Given the description of an element on the screen output the (x, y) to click on. 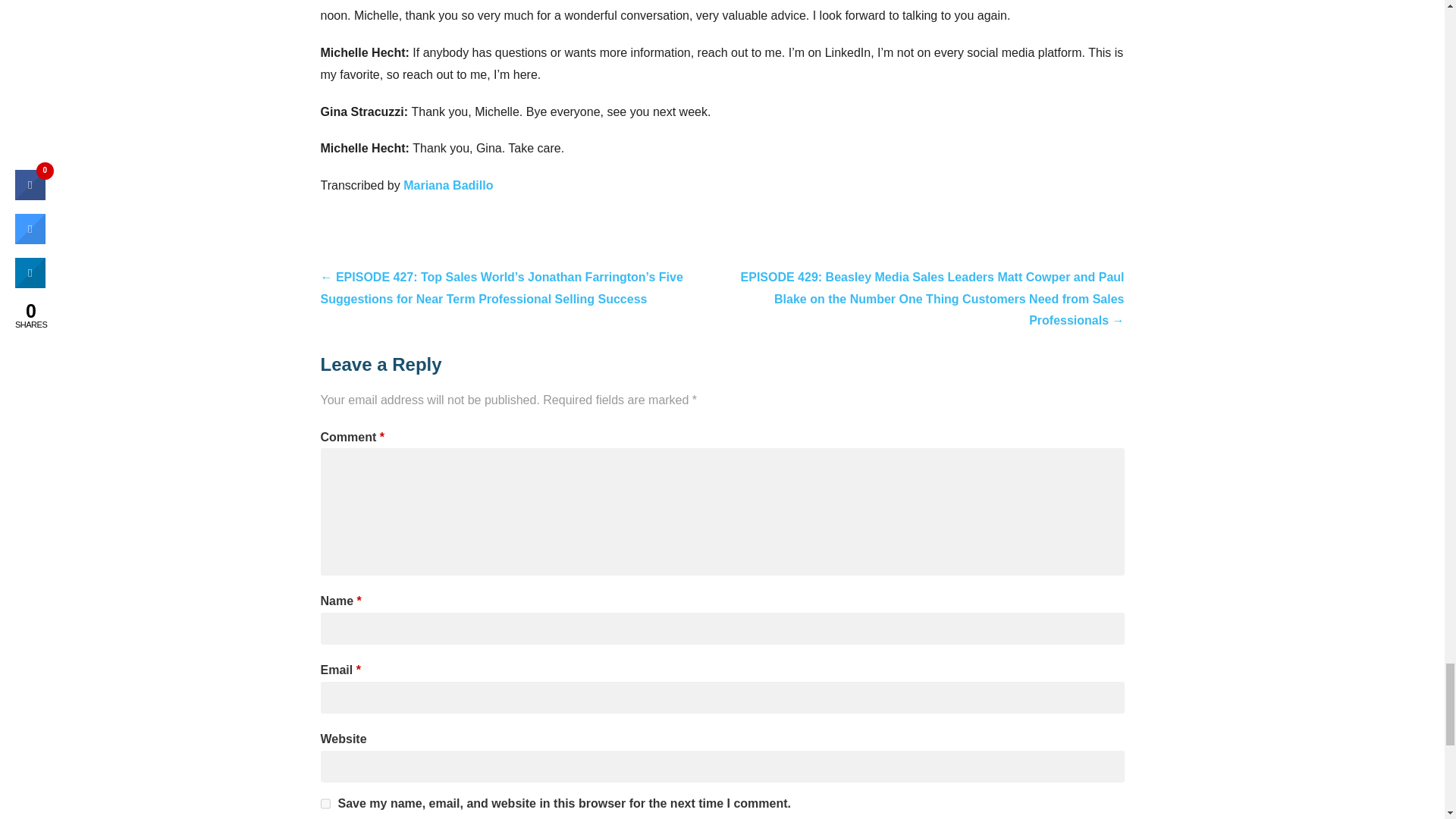
Mariana Badillo (448, 185)
